Given the description of an element on the screen output the (x, y) to click on. 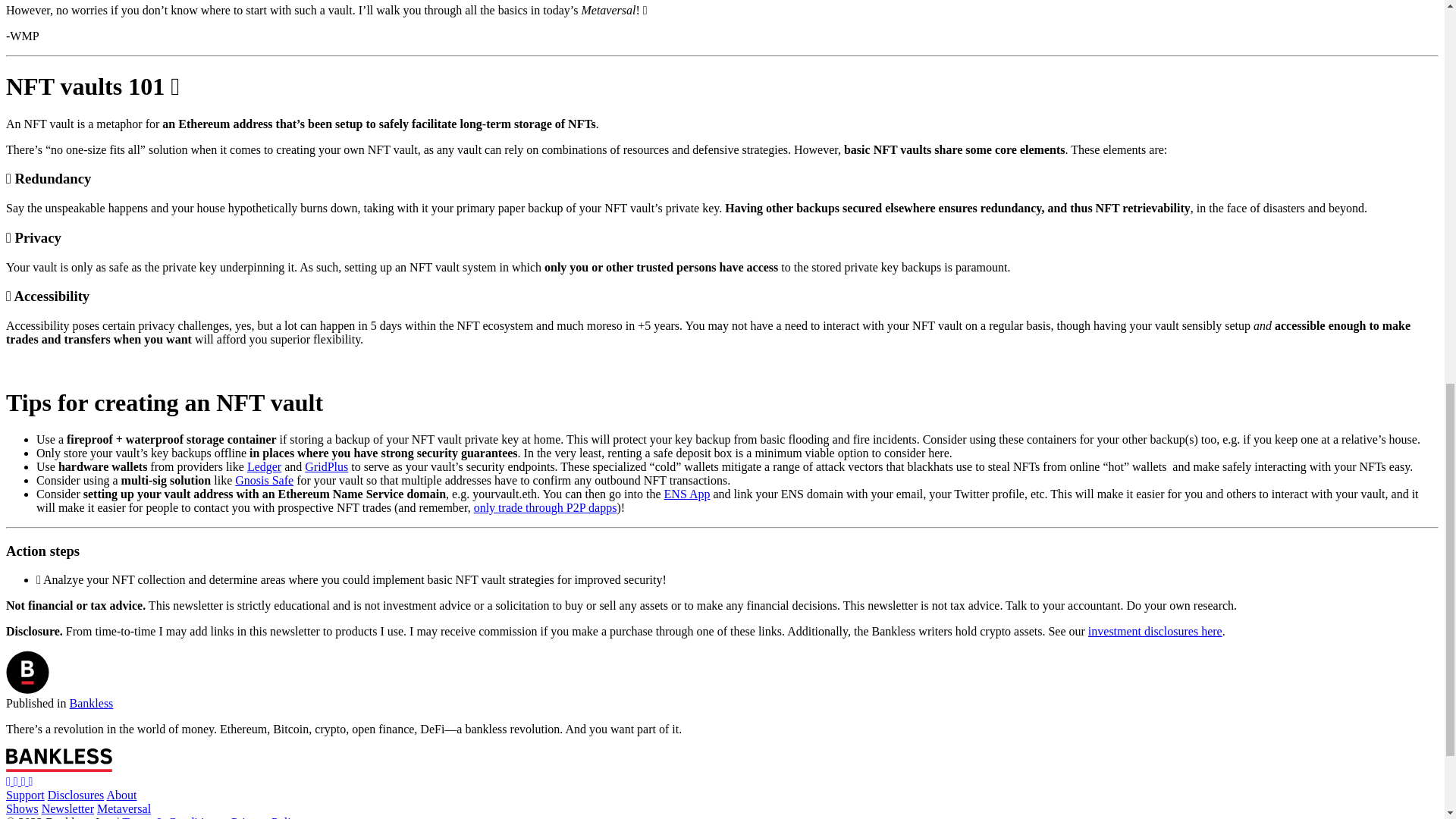
Gnosis Safe (264, 480)
GridPlus (325, 466)
Shows (22, 808)
About (121, 794)
Newsletter (68, 808)
investment disclosures here (1155, 631)
Metaversal (124, 808)
Ledger (264, 466)
Support (25, 794)
Bankless (91, 703)
Disclosures (76, 794)
ENS App (686, 493)
only trade through P2P dapps (545, 507)
Privacy Policy (266, 817)
